Given the description of an element on the screen output the (x, y) to click on. 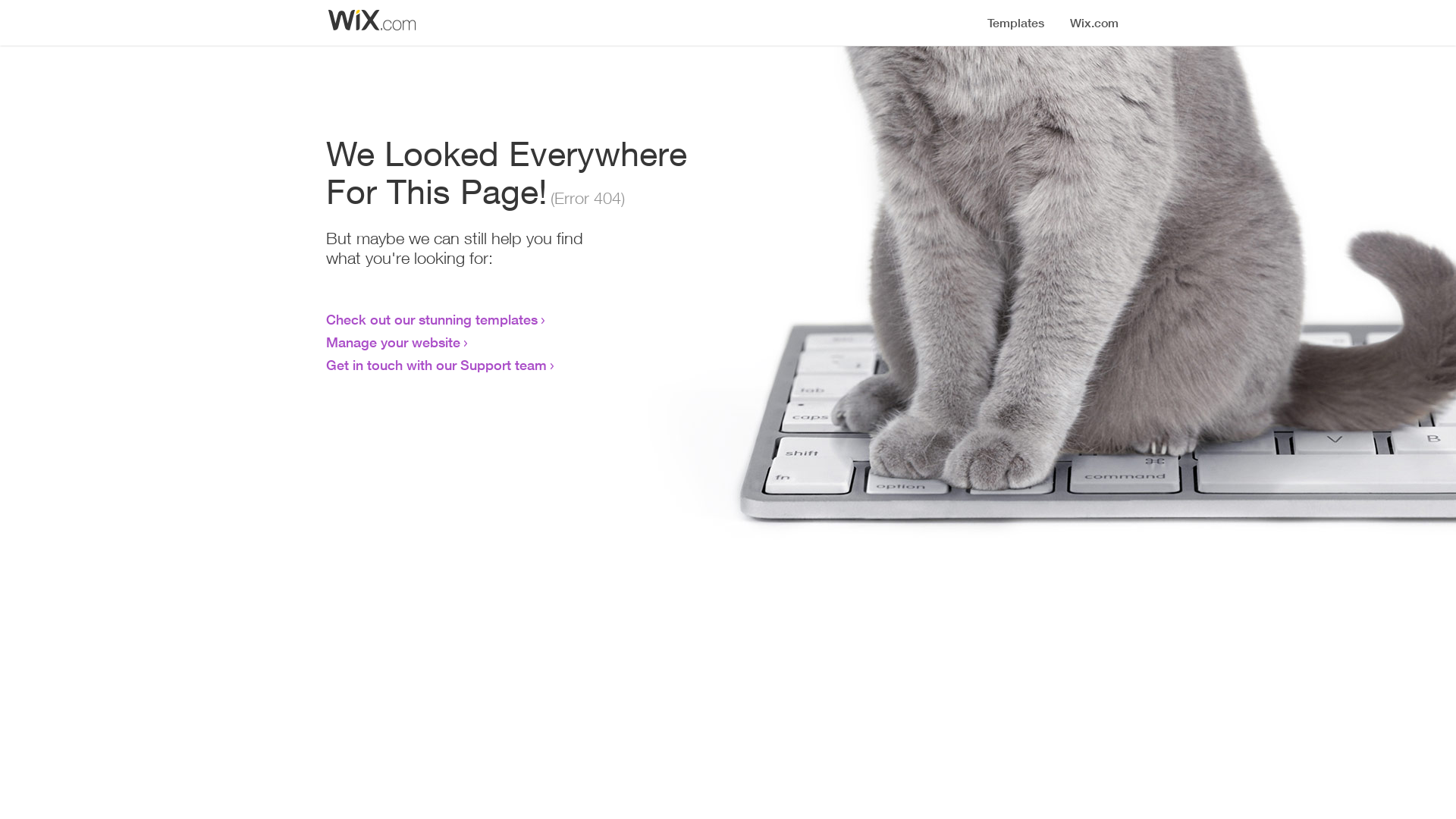
Get in touch with our Support team Element type: text (436, 364)
Manage your website Element type: text (393, 341)
Check out our stunning templates Element type: text (431, 318)
